Given the description of an element on the screen output the (x, y) to click on. 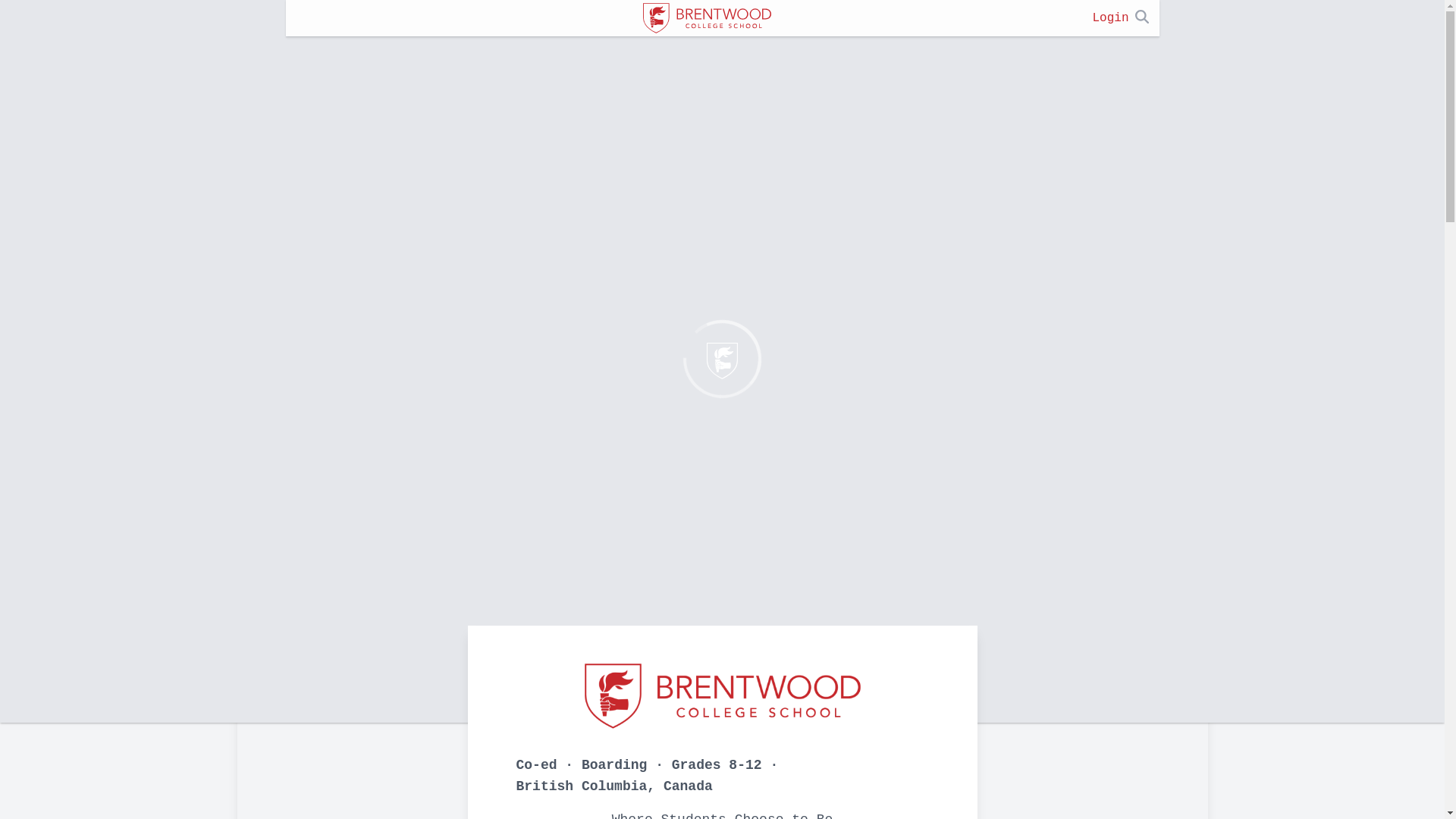
Login Element type: text (1110, 18)
